Given the description of an element on the screen output the (x, y) to click on. 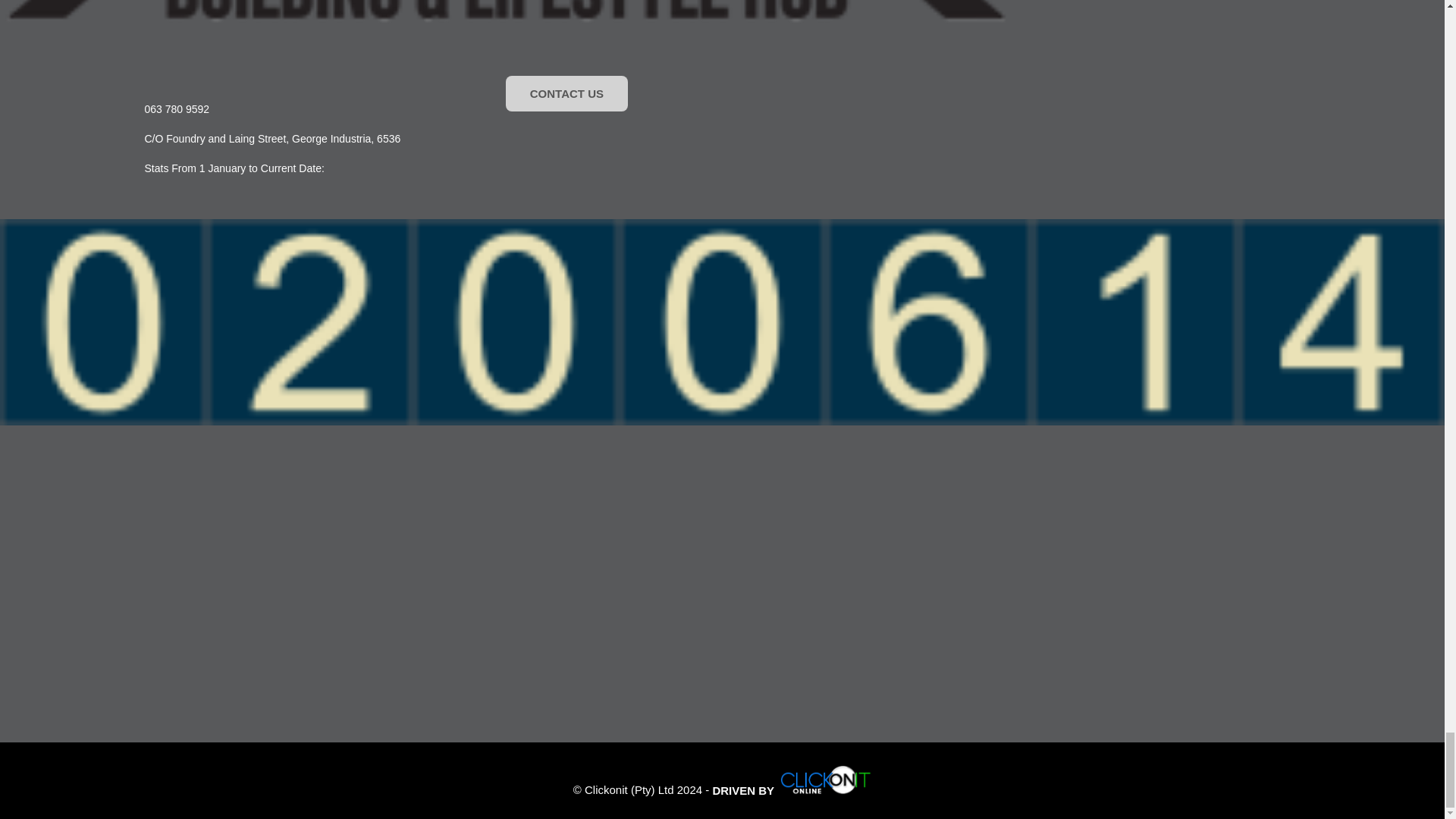
Building and Lifestyle Hub (505, 12)
CONTACT US (566, 93)
Building and Lifestyle Hub (825, 778)
DRIVEN BY   (790, 789)
